Given the description of an element on the screen output the (x, y) to click on. 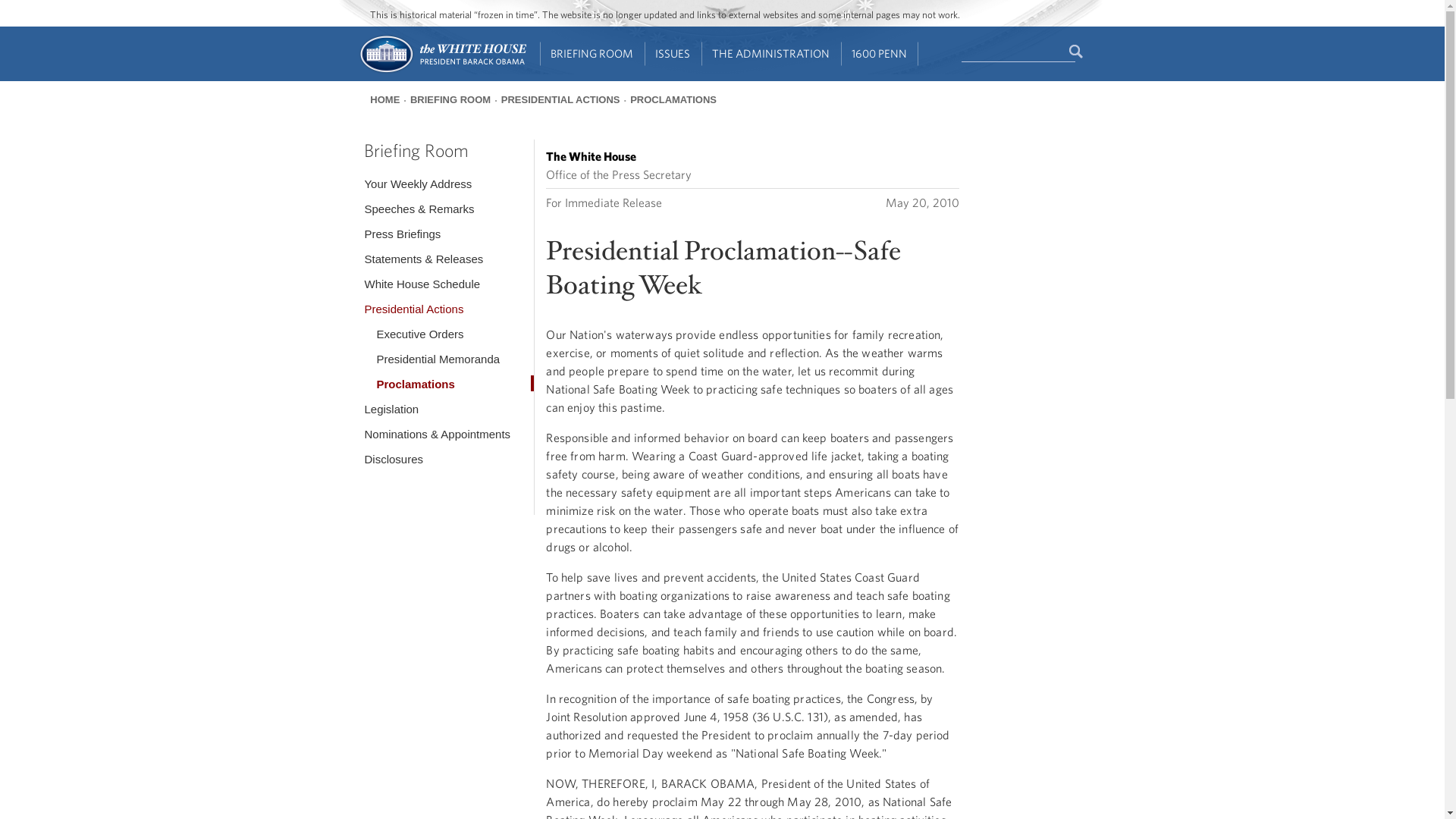
Home (441, 70)
Enter the terms you wish to search for. (1017, 52)
BRIEFING ROOM (592, 53)
Search (1076, 51)
ISSUES (673, 53)
